Given the description of an element on the screen output the (x, y) to click on. 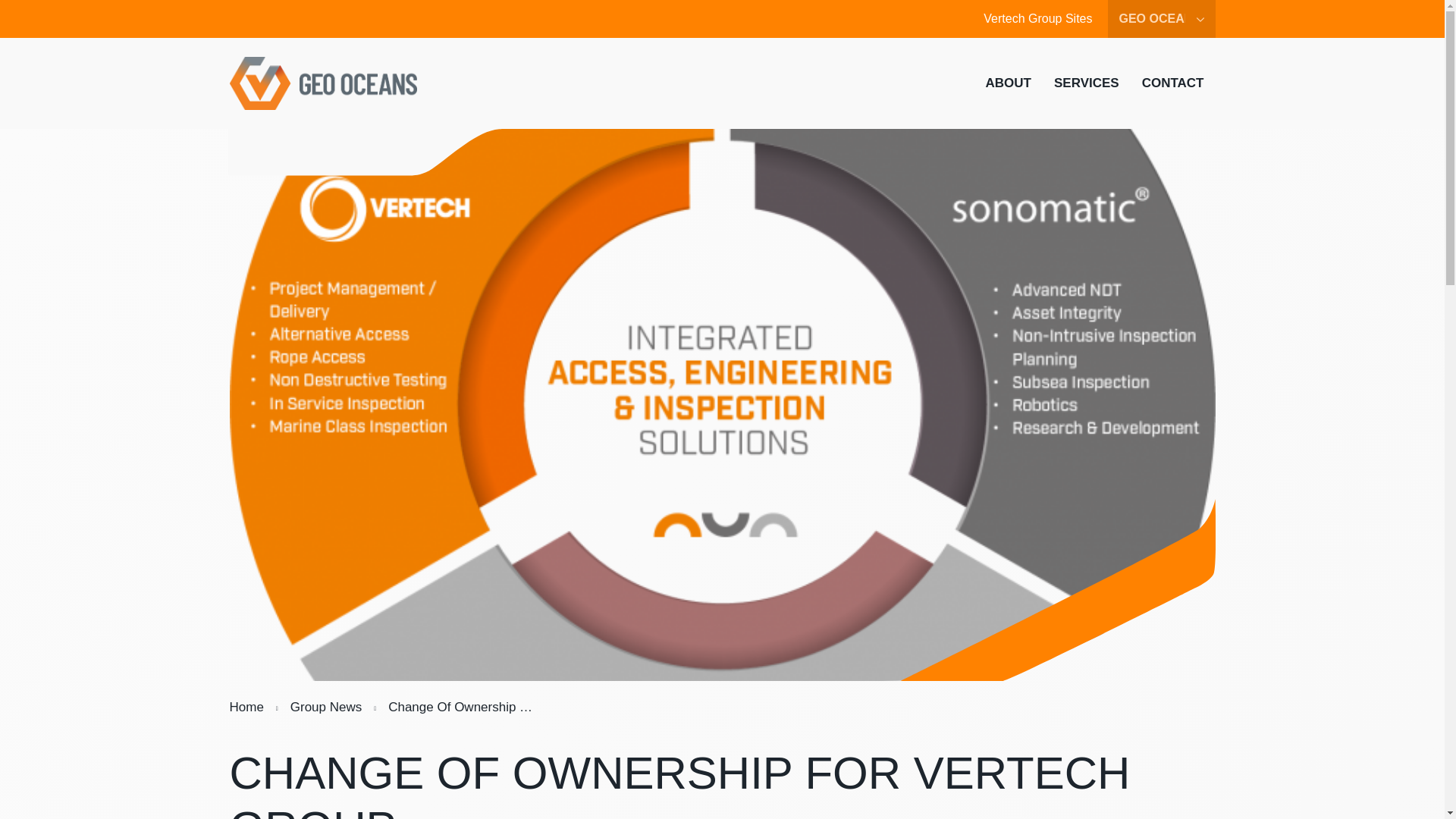
Home (245, 707)
Geo Oceans (323, 82)
Group News (325, 707)
SERVICES (1086, 82)
ABOUT (1008, 82)
CONTACT (1173, 82)
